Given the description of an element on the screen output the (x, y) to click on. 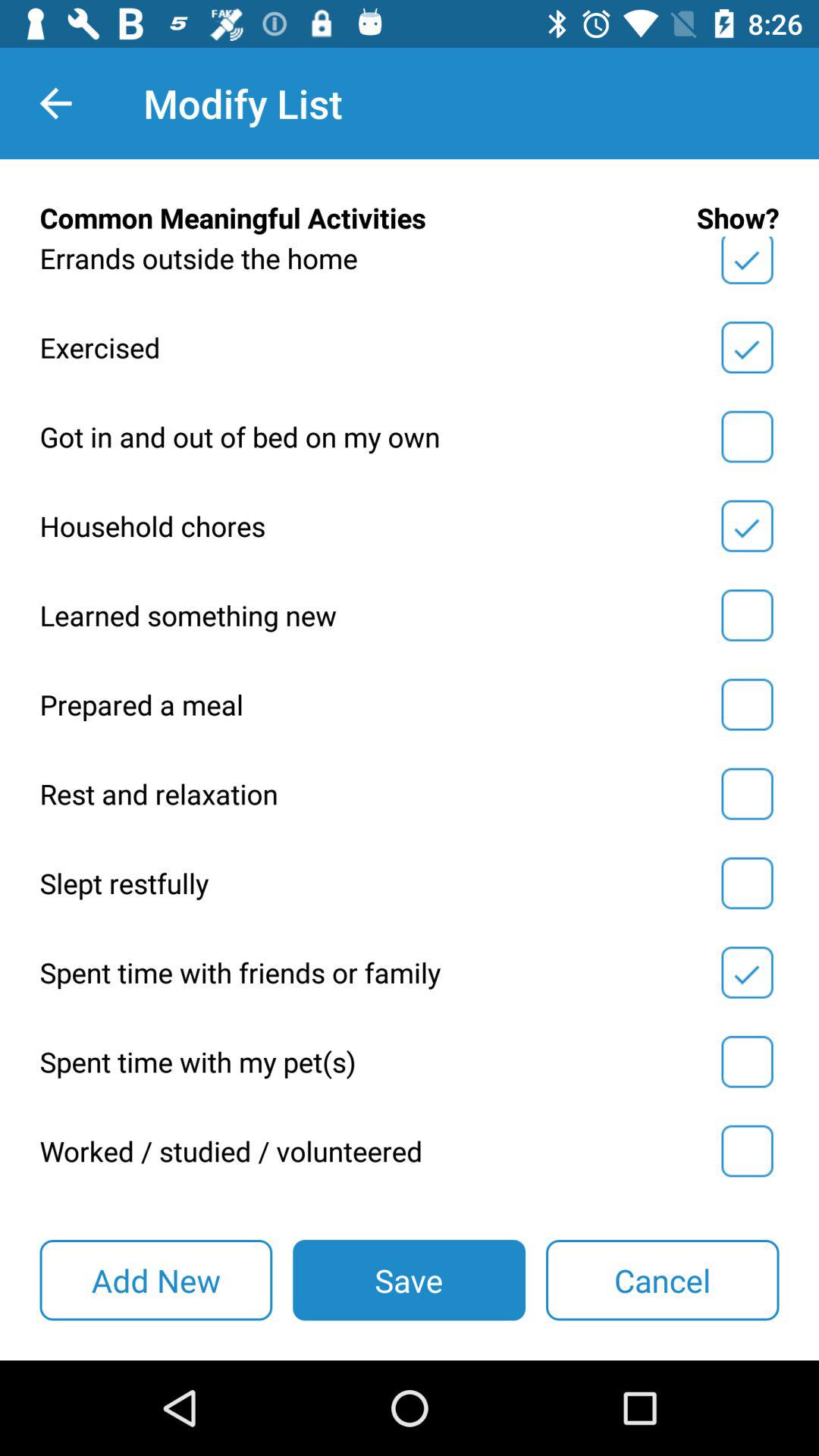
press save item (408, 1279)
